Given the description of an element on the screen output the (x, y) to click on. 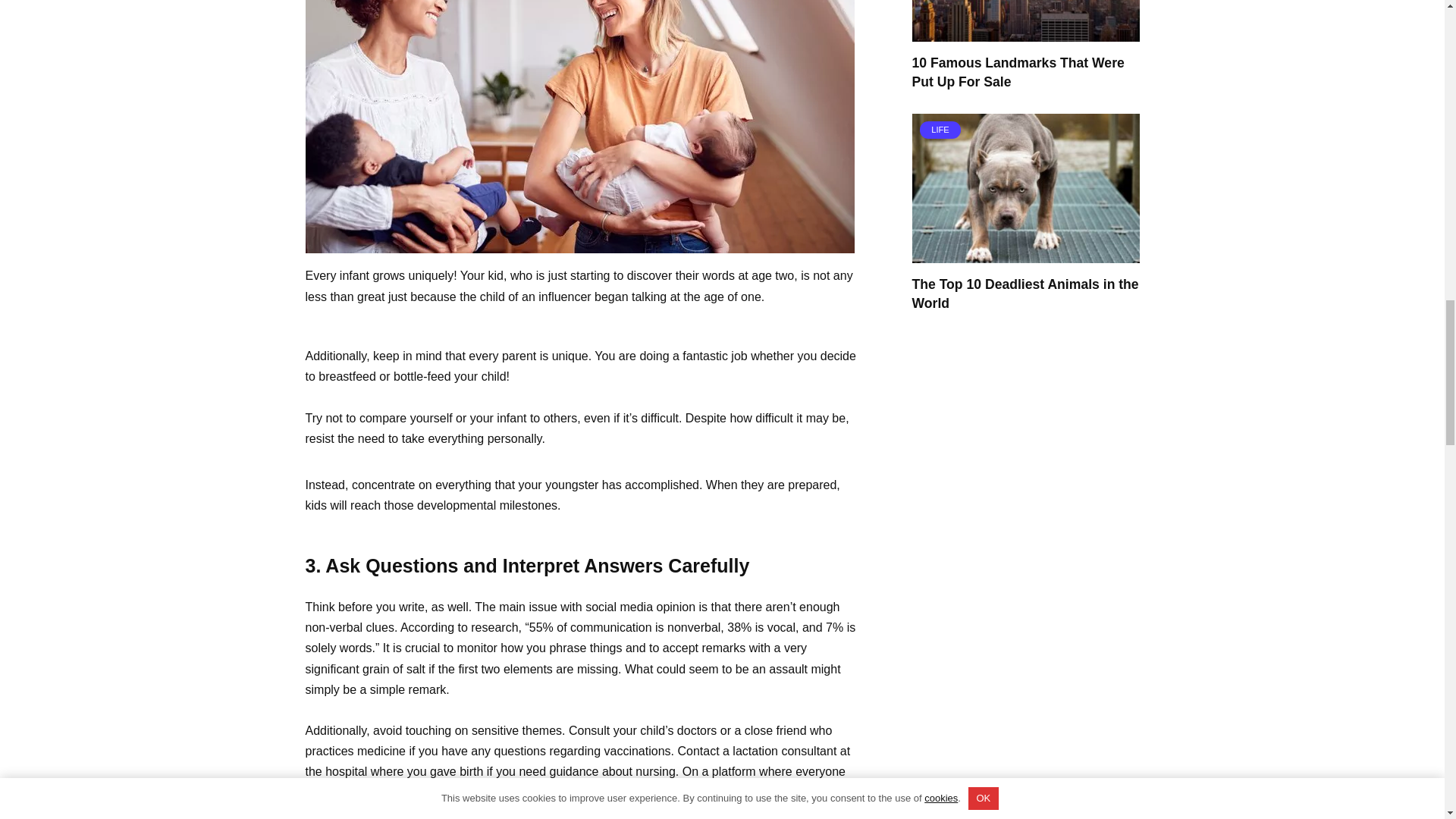
TRAVEL (1024, 31)
LIFE (1024, 253)
The Top 10 Deadliest Animals in the World (1024, 293)
10 Famous Landmarks That Were Put Up For Sale (1017, 72)
